Given the description of an element on the screen output the (x, y) to click on. 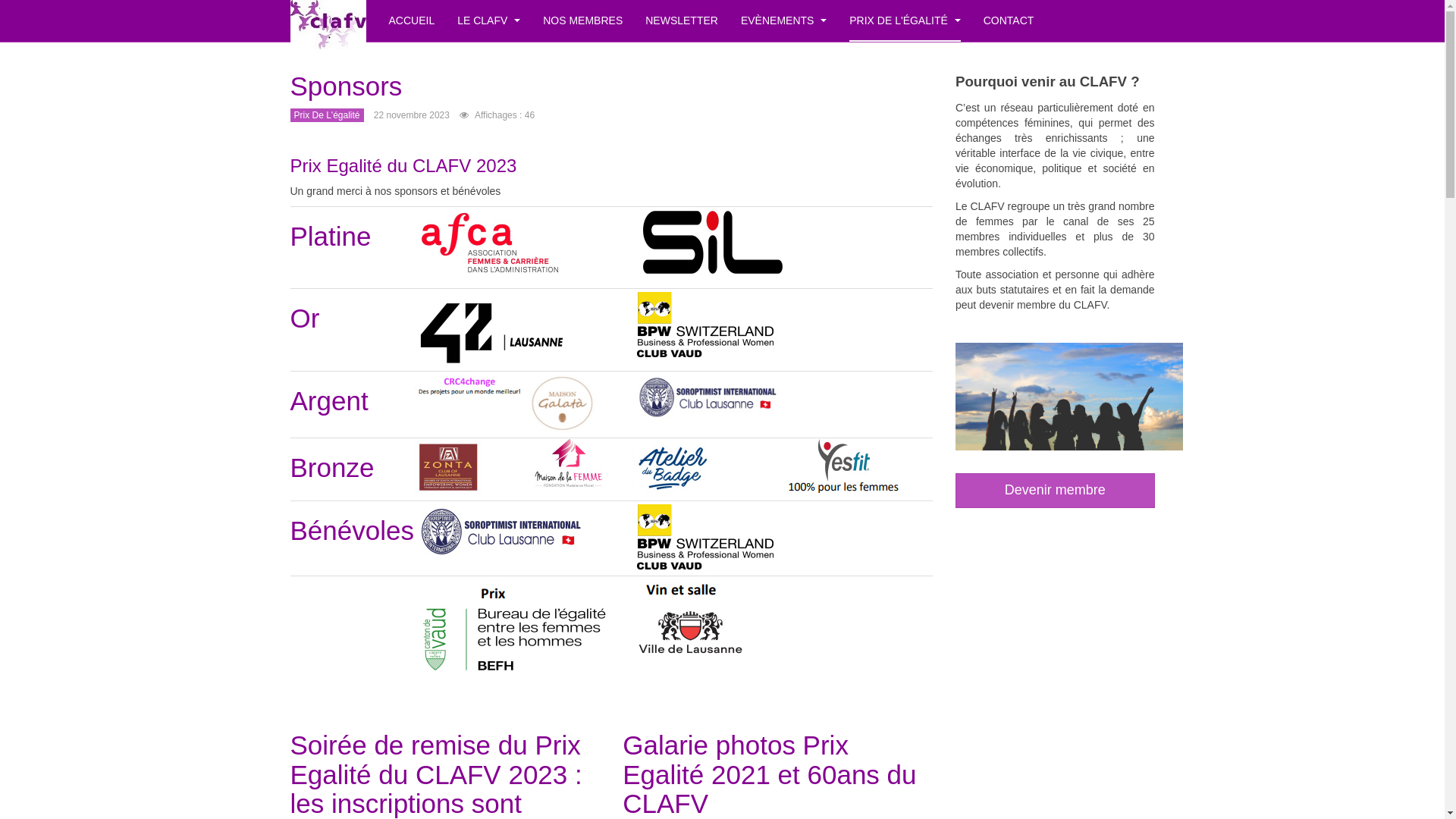
clafvd Element type: hover (327, 20)
Sponsors Element type: text (345, 85)
ACCUEIL Element type: text (411, 20)
NOS MEMBRES Element type: text (582, 20)
Devenir membre Element type: text (1054, 490)
NEWSLETTER Element type: text (681, 20)
LE CLAFV Element type: text (488, 20)
CONTACT Element type: text (1008, 20)
